Given the description of an element on the screen output the (x, y) to click on. 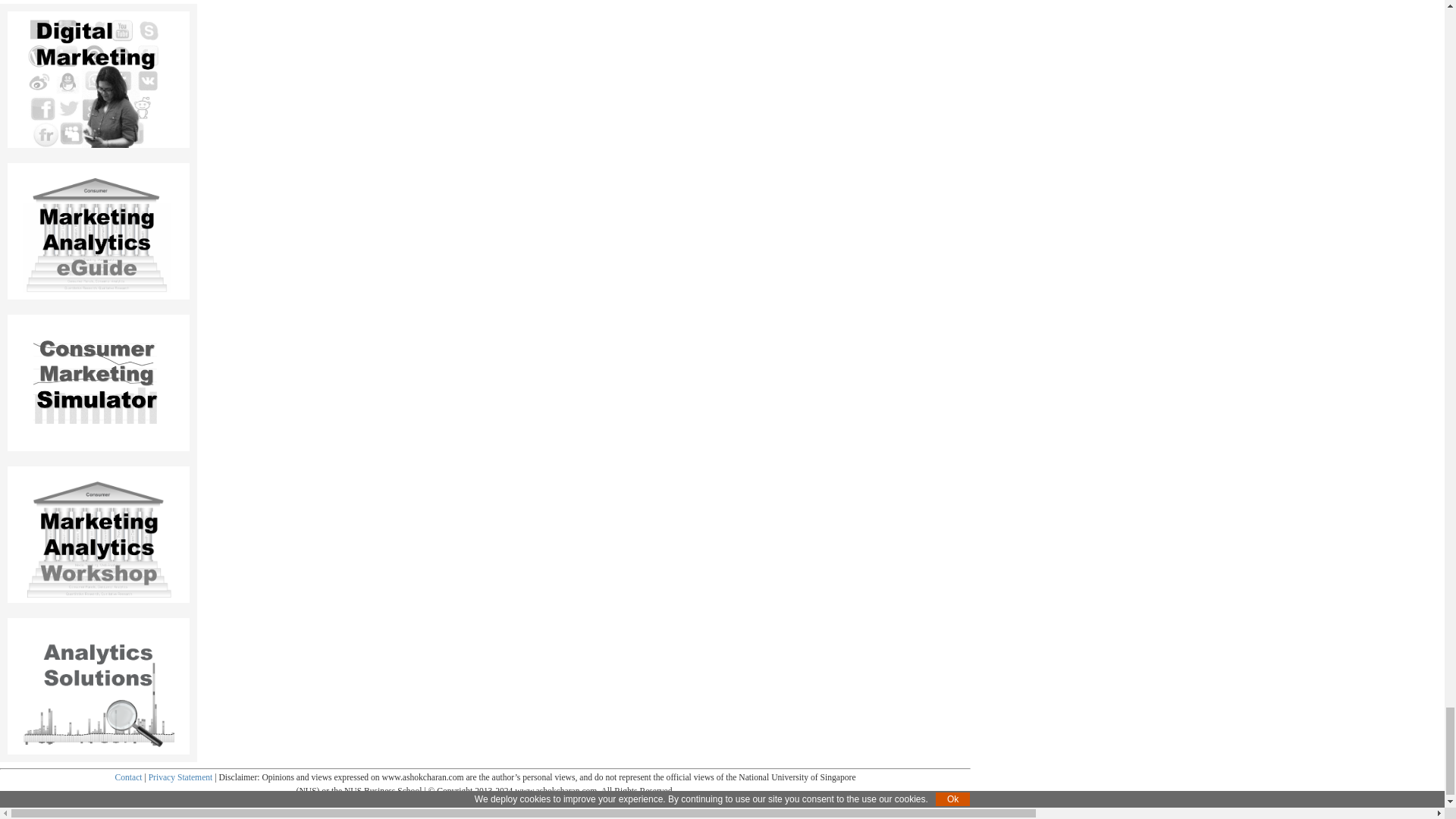
Digital Marketing, Practitioner's Guide to Digital Marketing (98, 79)
Marketing Analytics Solutions for Marketers (98, 697)
